Given the description of an element on the screen output the (x, y) to click on. 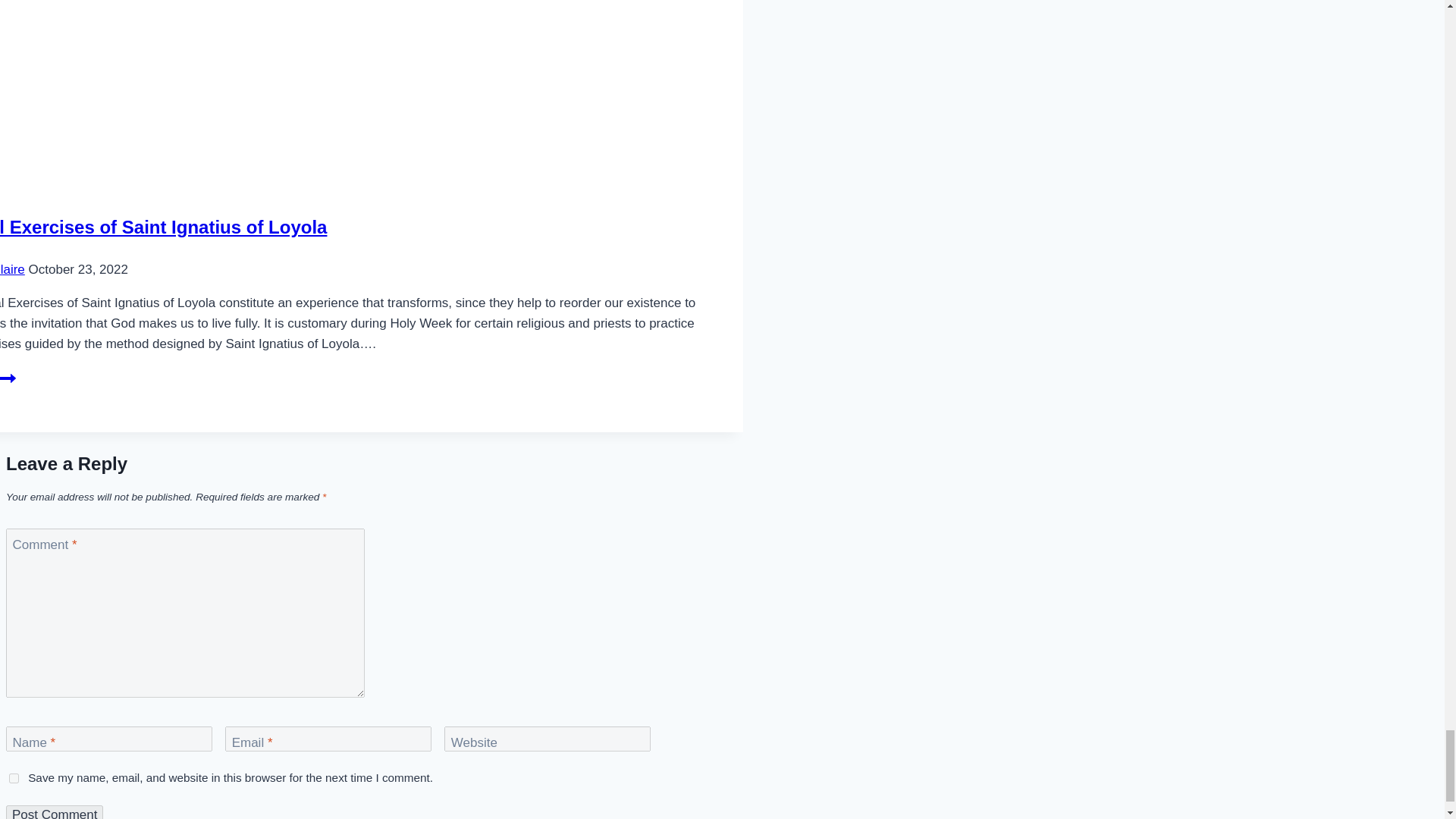
yes (13, 777)
